Given the description of an element on the screen output the (x, y) to click on. 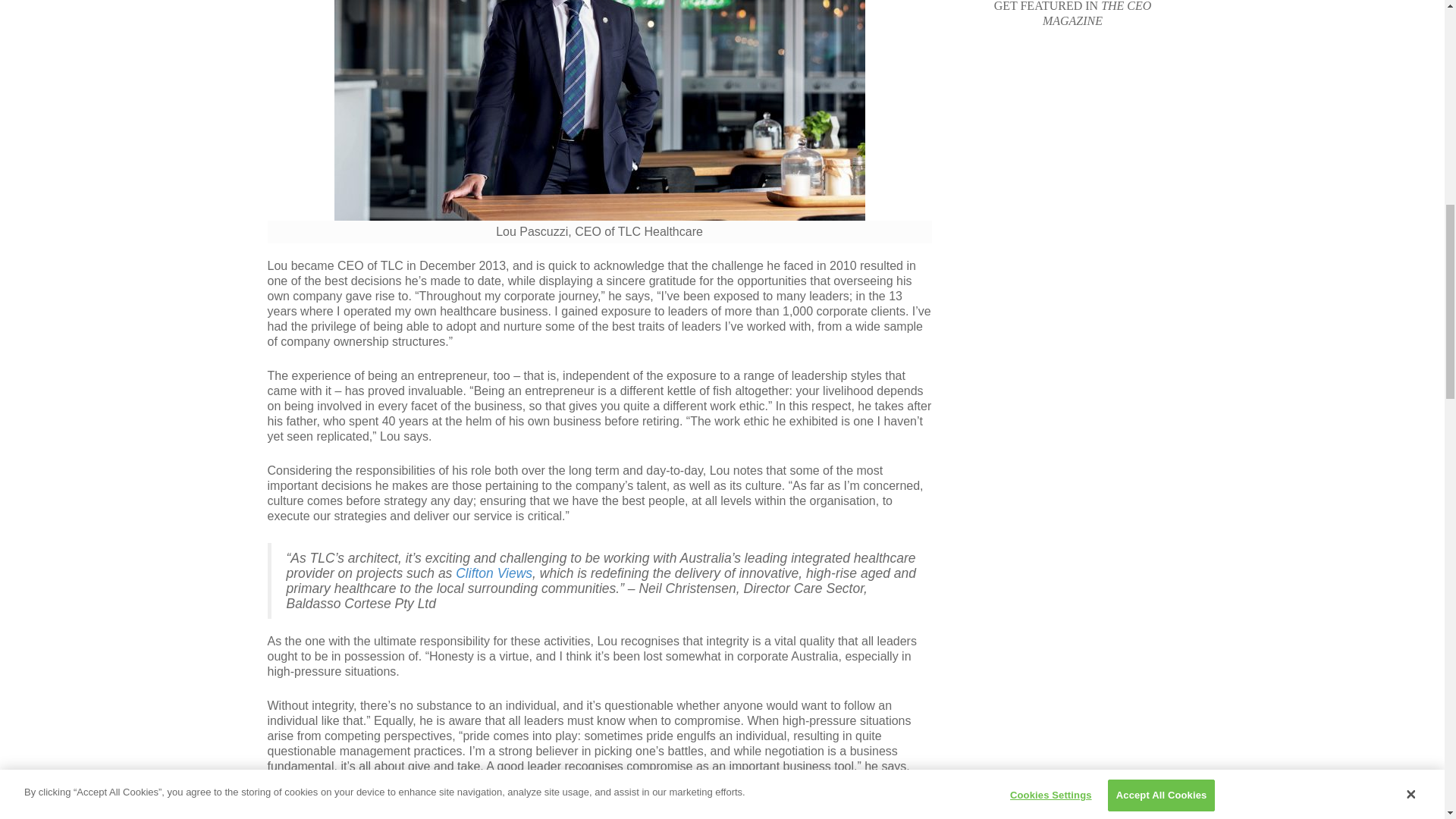
GET FEATURED IN THE CEO MAGAZINE (1072, 14)
Clifton Views (493, 572)
